Given the description of an element on the screen output the (x, y) to click on. 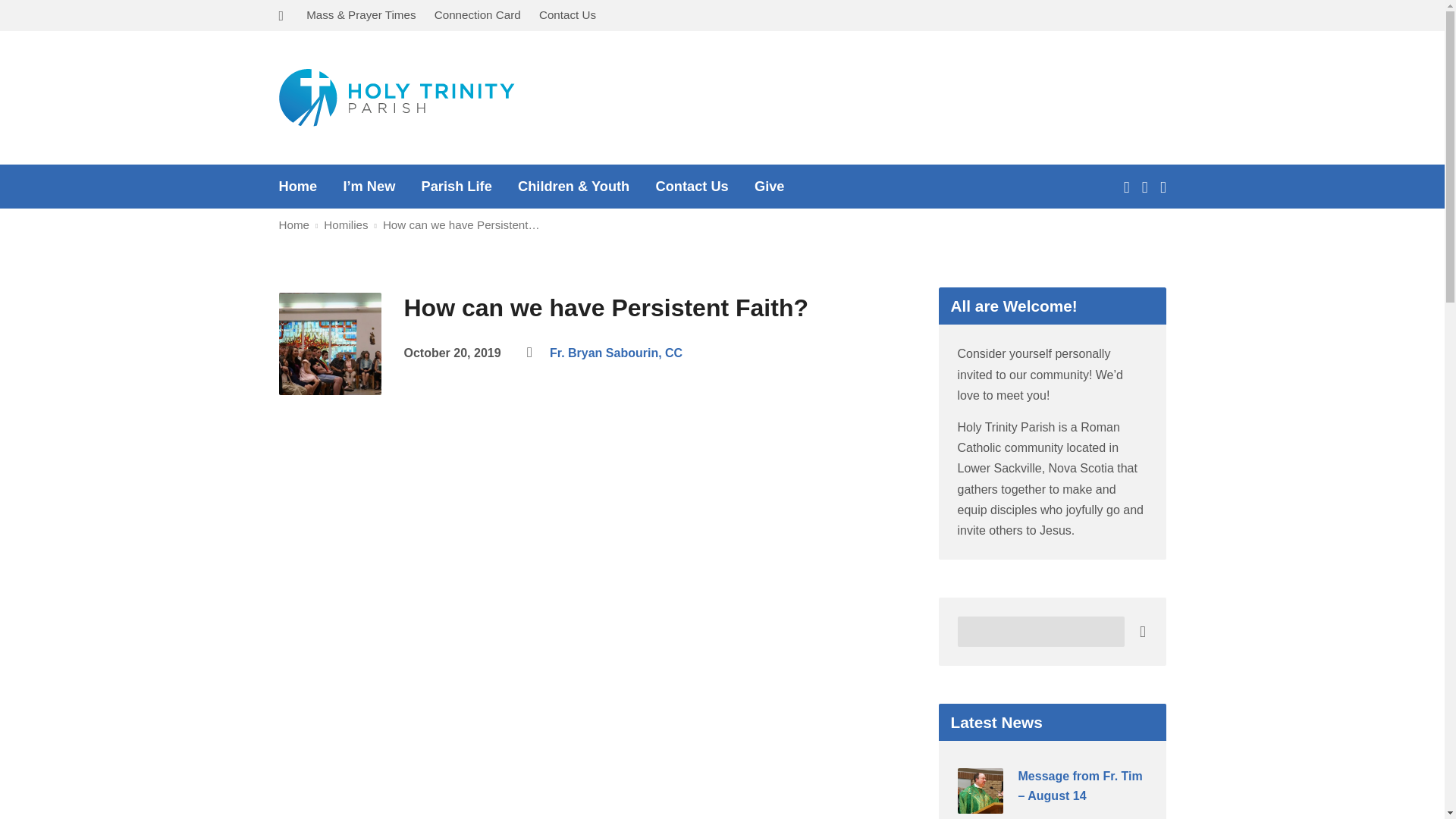
Home (294, 224)
Give (769, 186)
Homilies (345, 224)
Parish Life (457, 186)
Contact Us (566, 14)
Fr. Bryan Sabourin, CC (616, 352)
Home (298, 186)
Connection Card (477, 14)
Contact Us (691, 186)
